Given the description of an element on the screen output the (x, y) to click on. 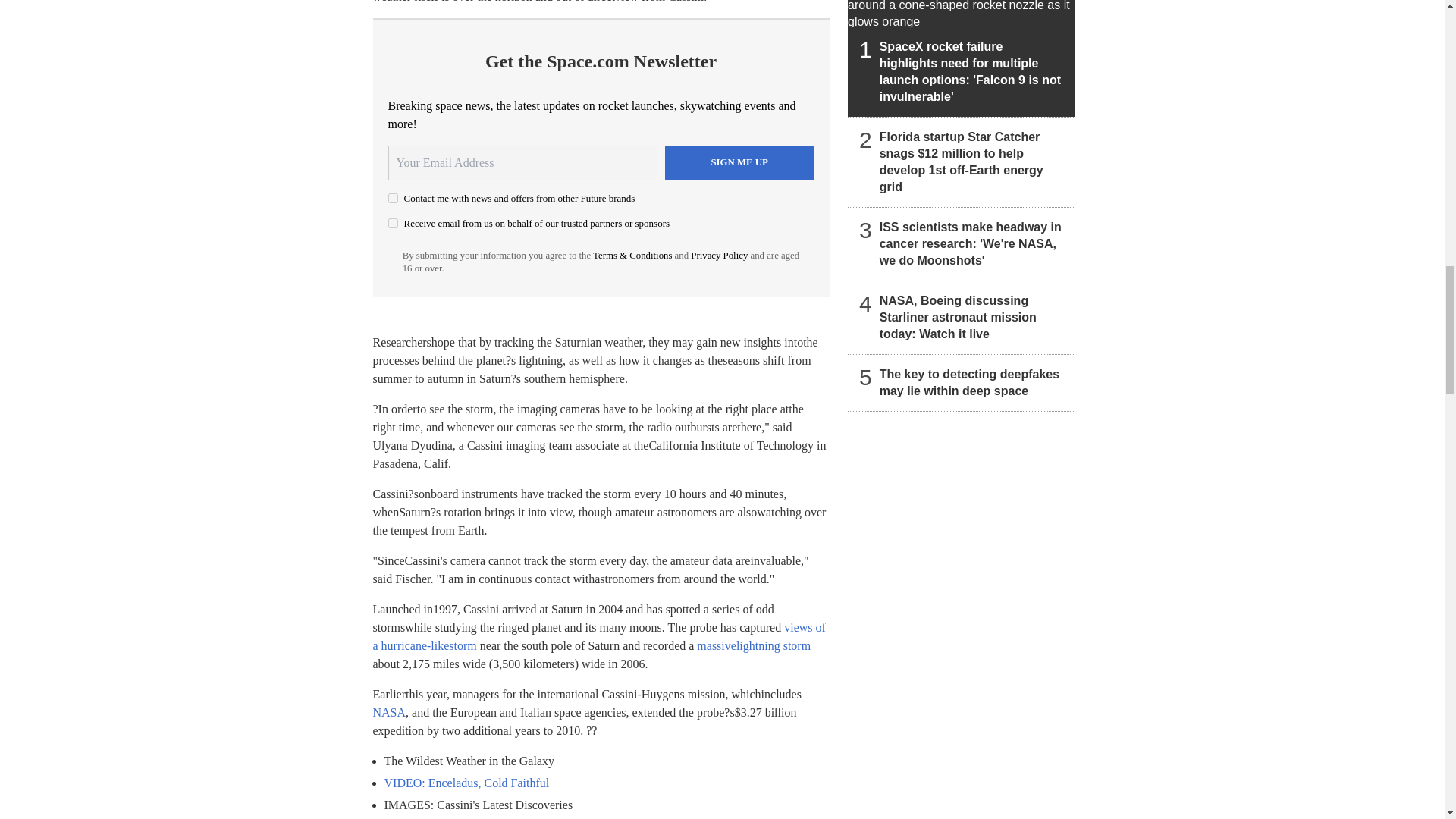
Sign me up (739, 162)
on (392, 223)
on (392, 198)
